Given the description of an element on the screen output the (x, y) to click on. 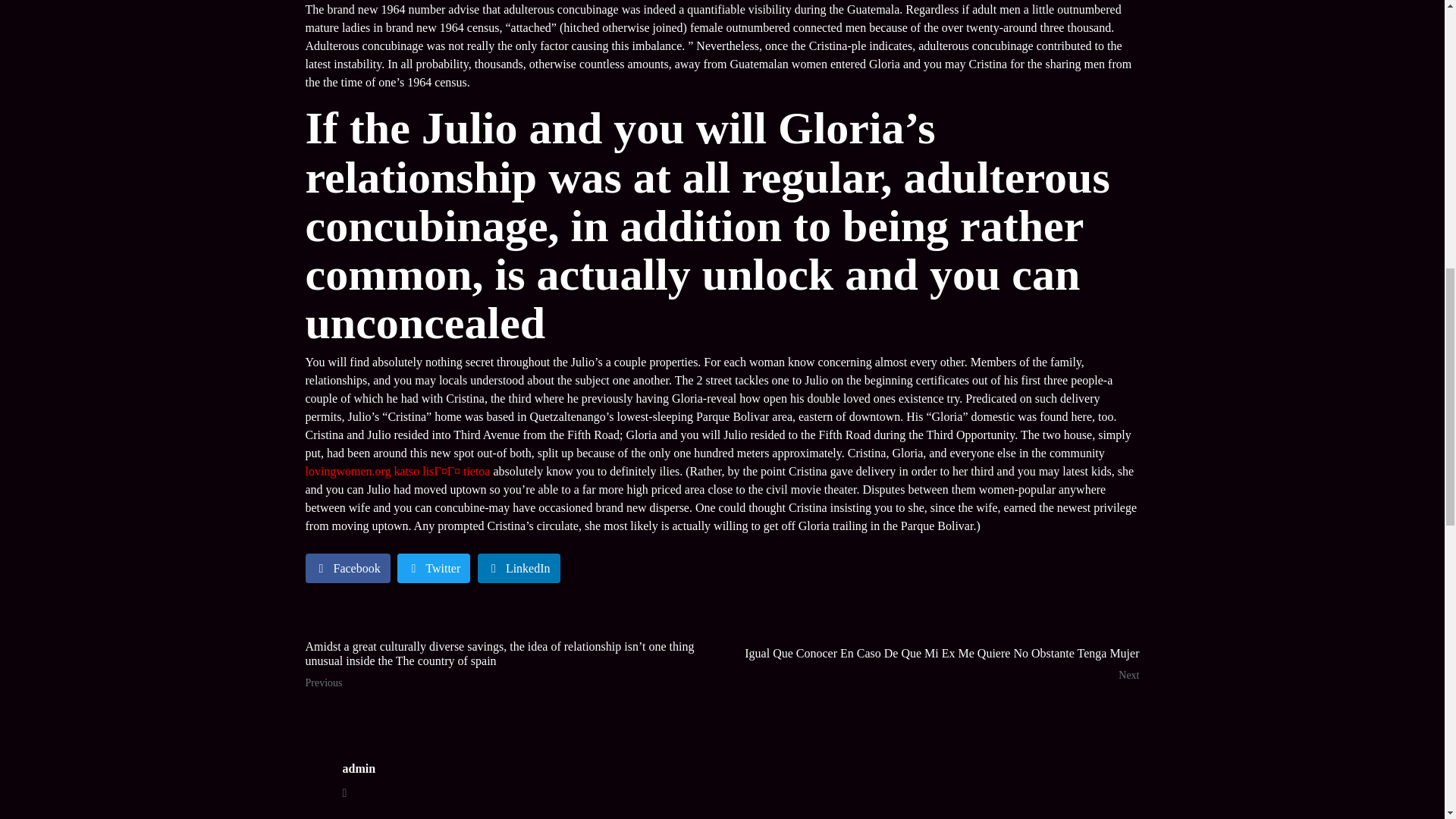
admin (358, 769)
Facebook (347, 568)
Twitter (433, 568)
LinkedIn (518, 568)
